Given the description of an element on the screen output the (x, y) to click on. 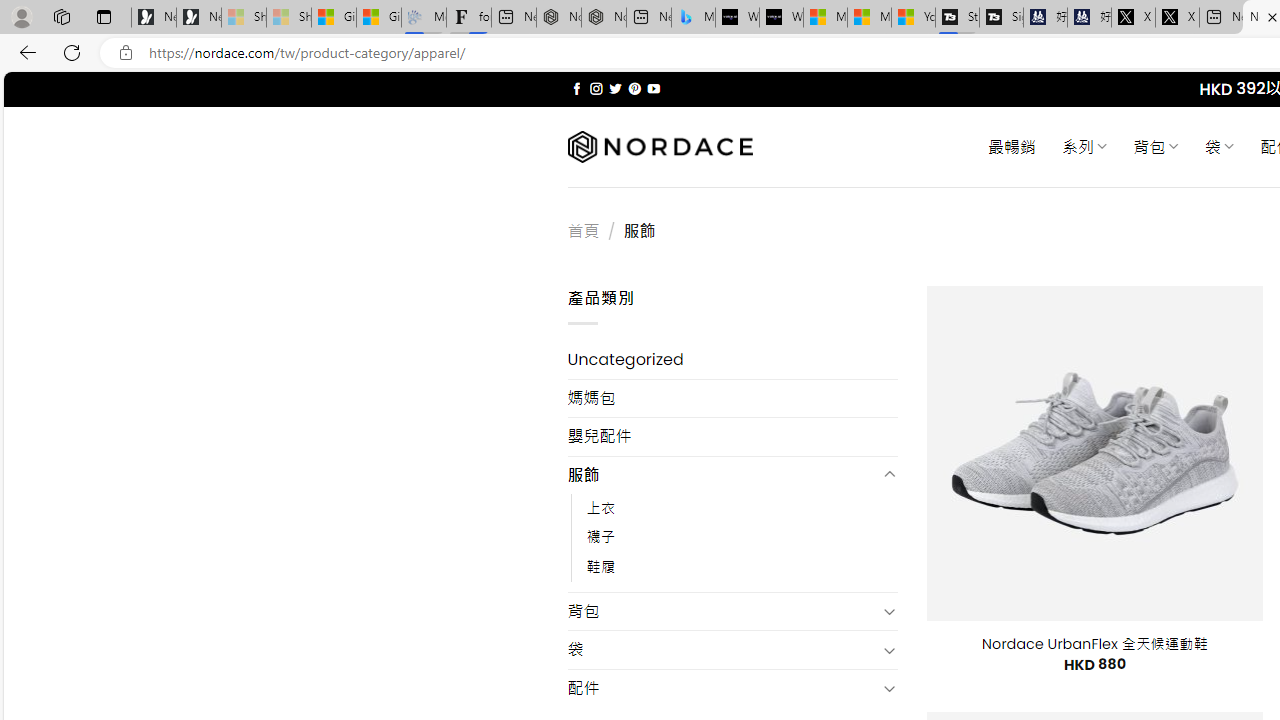
Follow on Twitter (615, 88)
Microsoft Start Sports (825, 17)
Nordace - #1 Japanese Best-Seller - Siena Smart Backpack (603, 17)
Follow on Facebook (576, 88)
Newsletter Sign Up (198, 17)
